Given the description of an element on the screen output the (x, y) to click on. 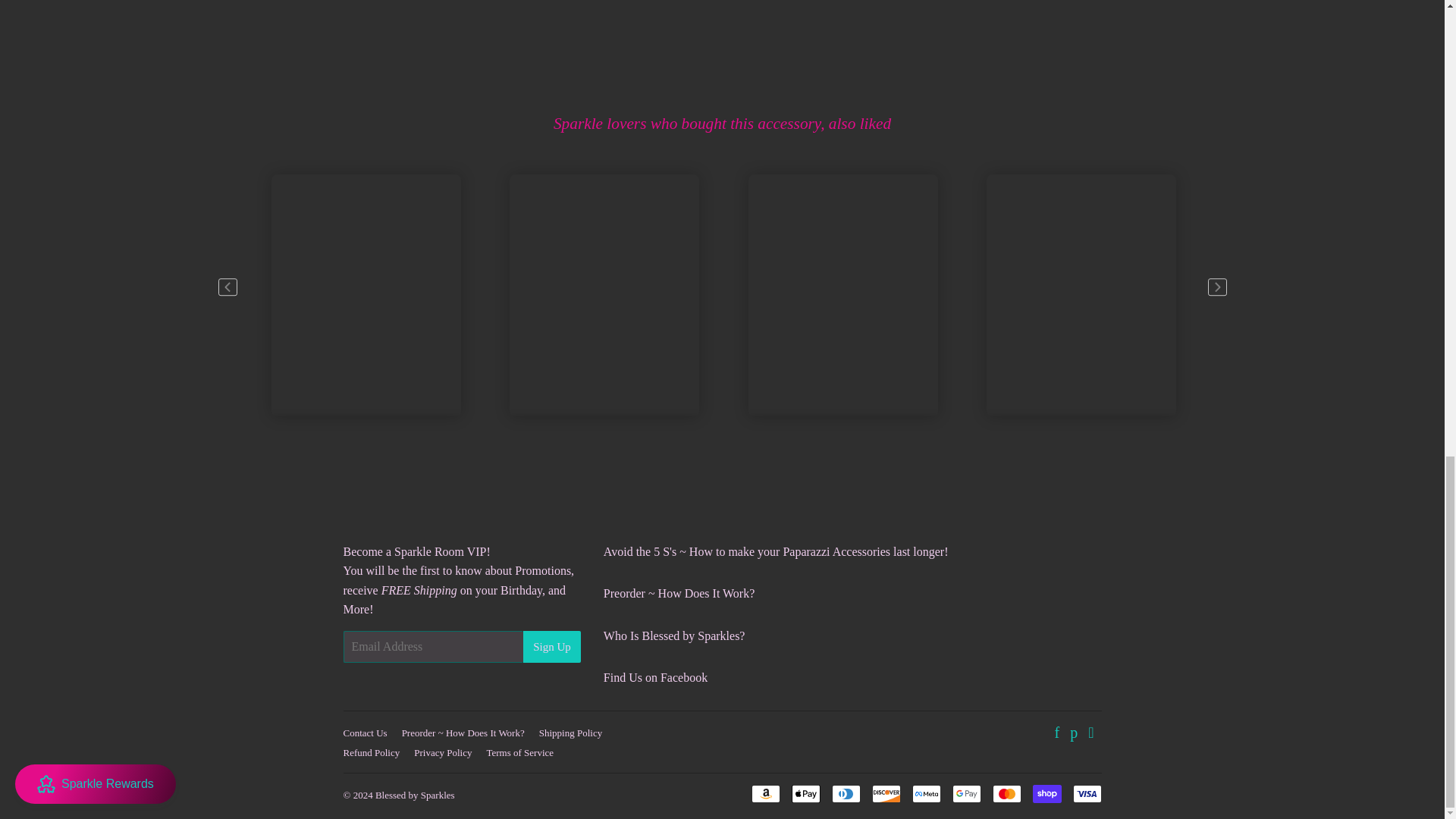
Apple Pay (806, 793)
Mastercard (1005, 793)
Visa (1085, 793)
Diners Club (845, 793)
Google Pay (966, 793)
Who Is Blessed by Sparkles? (674, 635)
Meta Pay (925, 793)
Discover (886, 793)
Amazon (764, 793)
Shop Pay (1046, 793)
